Given the description of an element on the screen output the (x, y) to click on. 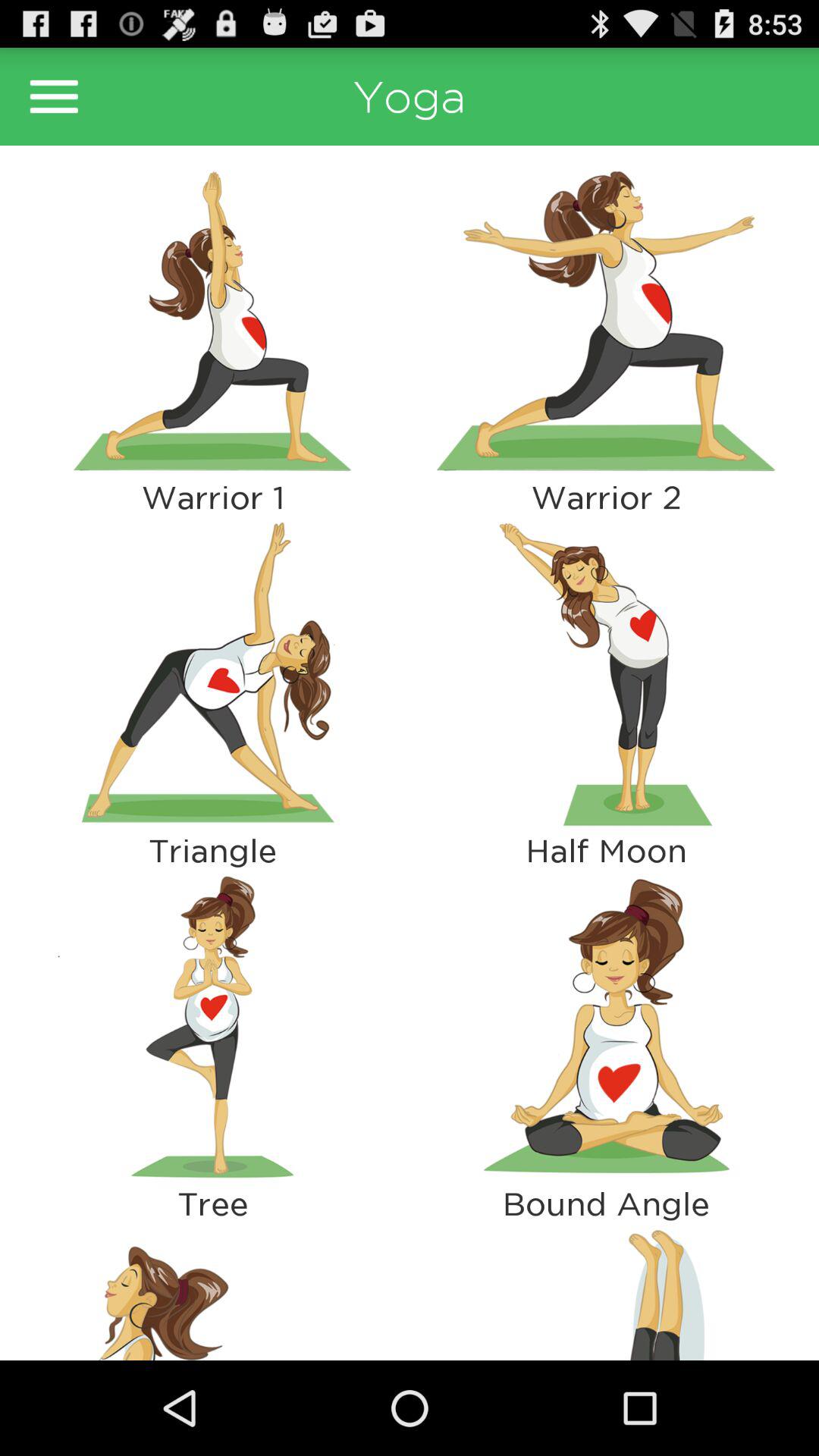
choose the app next to warrior 2 item (212, 673)
